Given the description of an element on the screen output the (x, y) to click on. 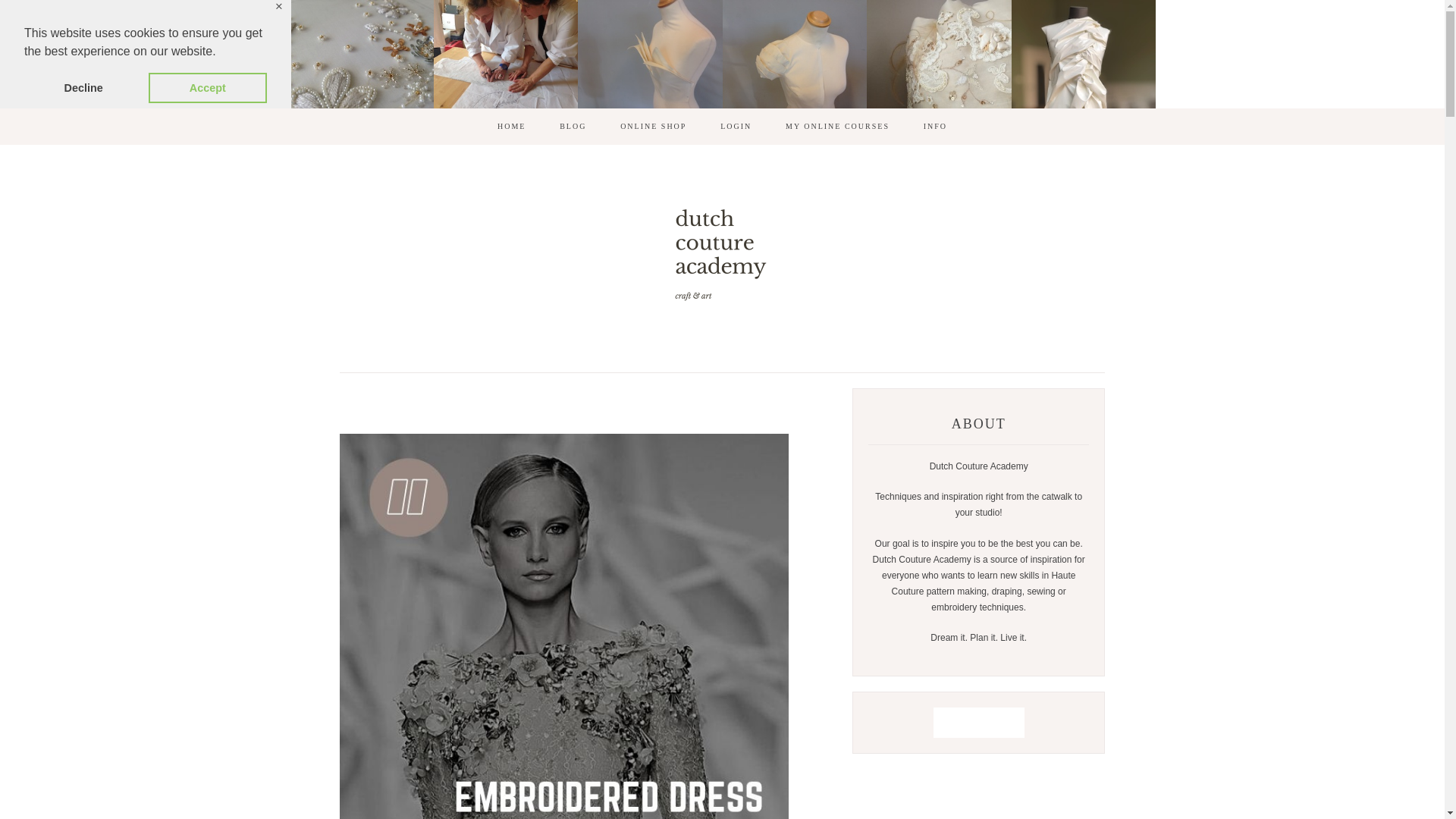
MY ONLINE COURSES (837, 126)
HOME (510, 126)
Decline (83, 87)
ONLINE SHOP (653, 126)
INFO (935, 126)
LOGIN (735, 126)
Accept (207, 87)
BLOG (572, 126)
